Given the description of an element on the screen output the (x, y) to click on. 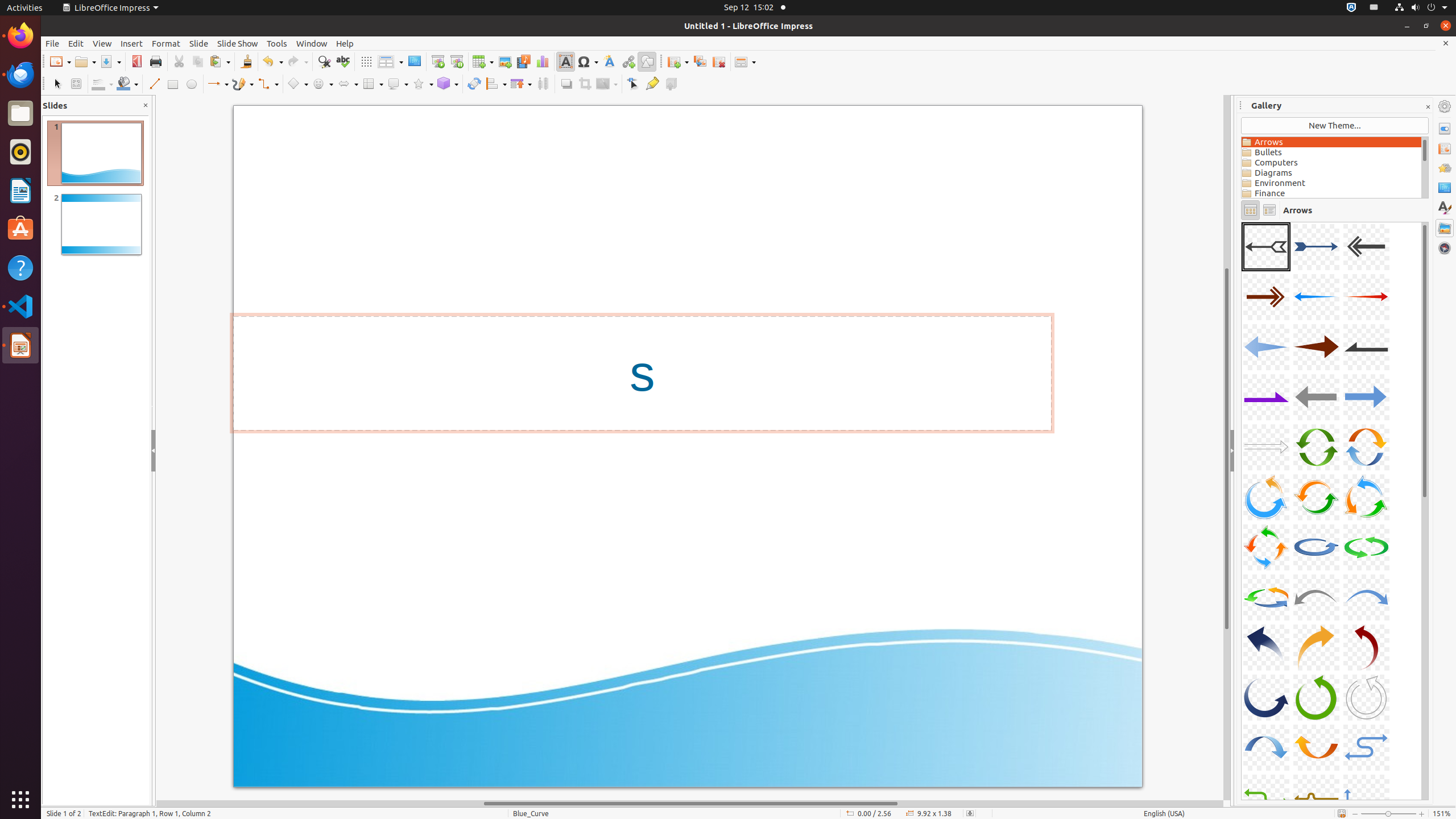
Horizontal scroll bar Element type: scroll-bar (689, 803)
A01-Arrow-Gray-Left Element type: list-item (1265, 246)
Fontwork Style Element type: toggle-button (609, 61)
Grid Element type: toggle-button (365, 61)
A19-CircleArrow Element type: list-item (1265, 546)
